Given the description of an element on the screen output the (x, y) to click on. 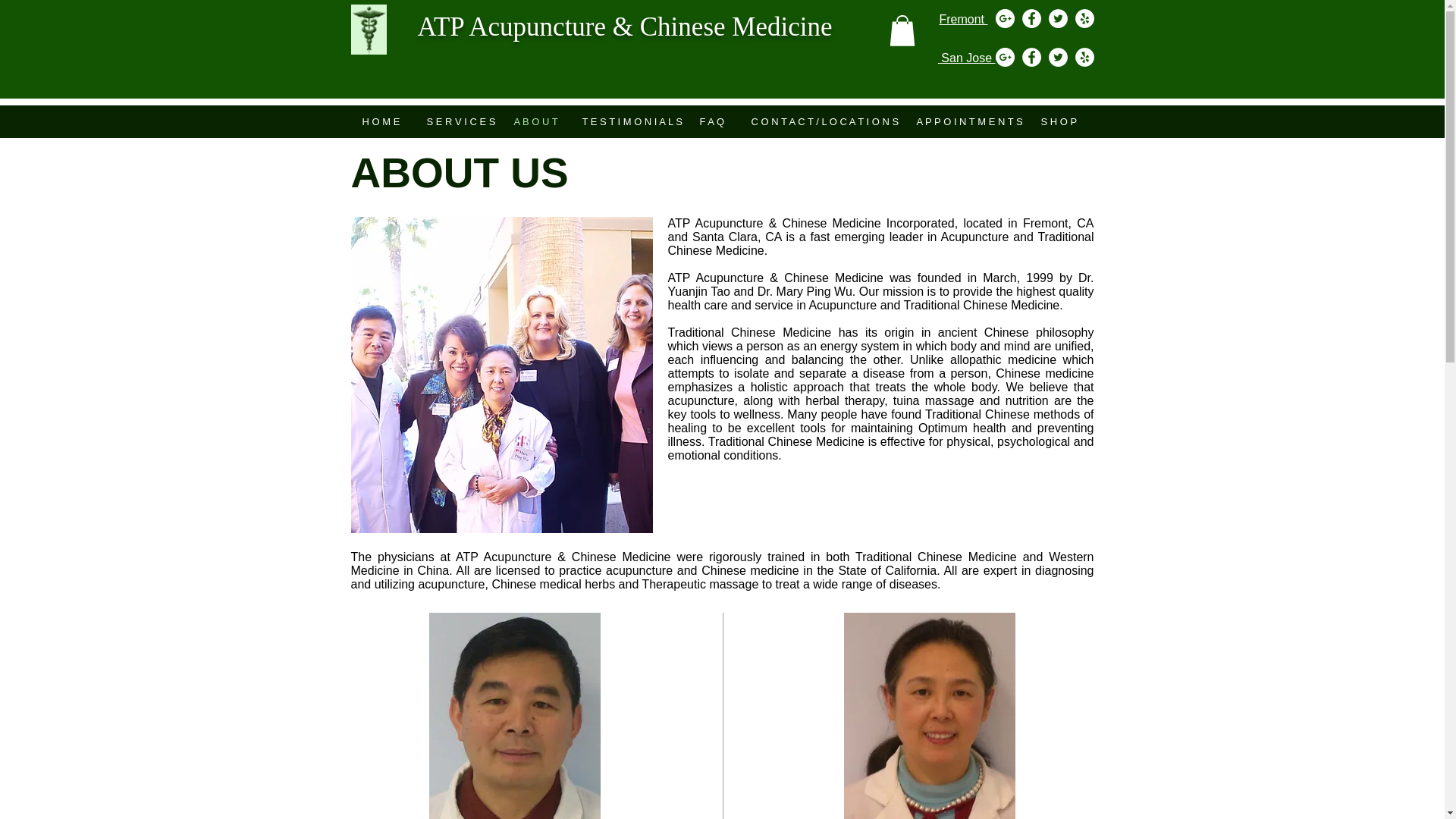
S H O P (1059, 121)
A P P O I N T M E N T S (967, 121)
S E R V I C E S (458, 121)
A B O U T (536, 121)
 San Jose  (966, 57)
H O M E (382, 121)
Fremont  (963, 19)
F A Q (713, 121)
T E S T I M O N I A L S (628, 121)
